Given the description of an element on the screen output the (x, y) to click on. 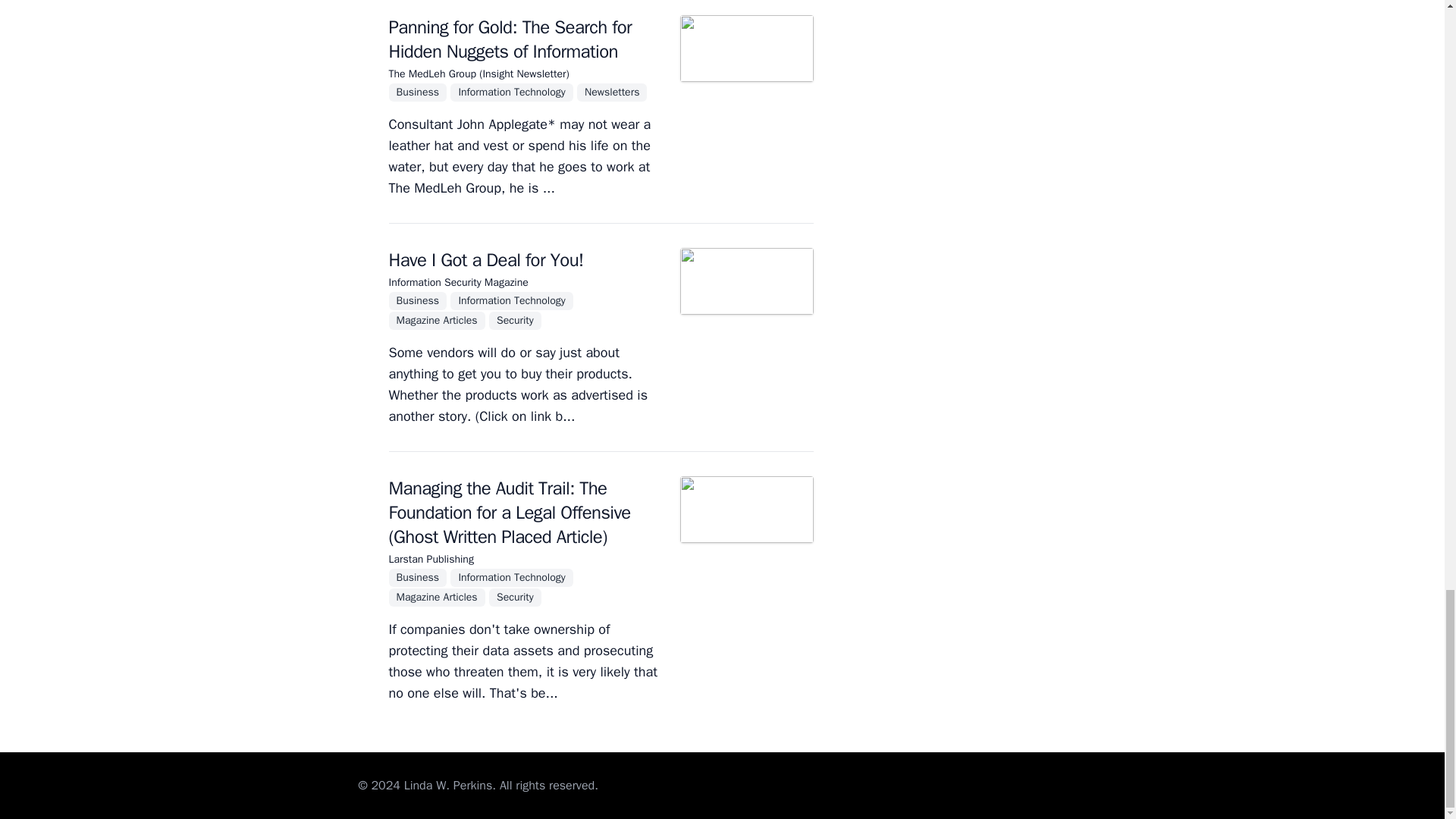
Business (418, 90)
Information Technology (512, 90)
